Given the description of an element on the screen output the (x, y) to click on. 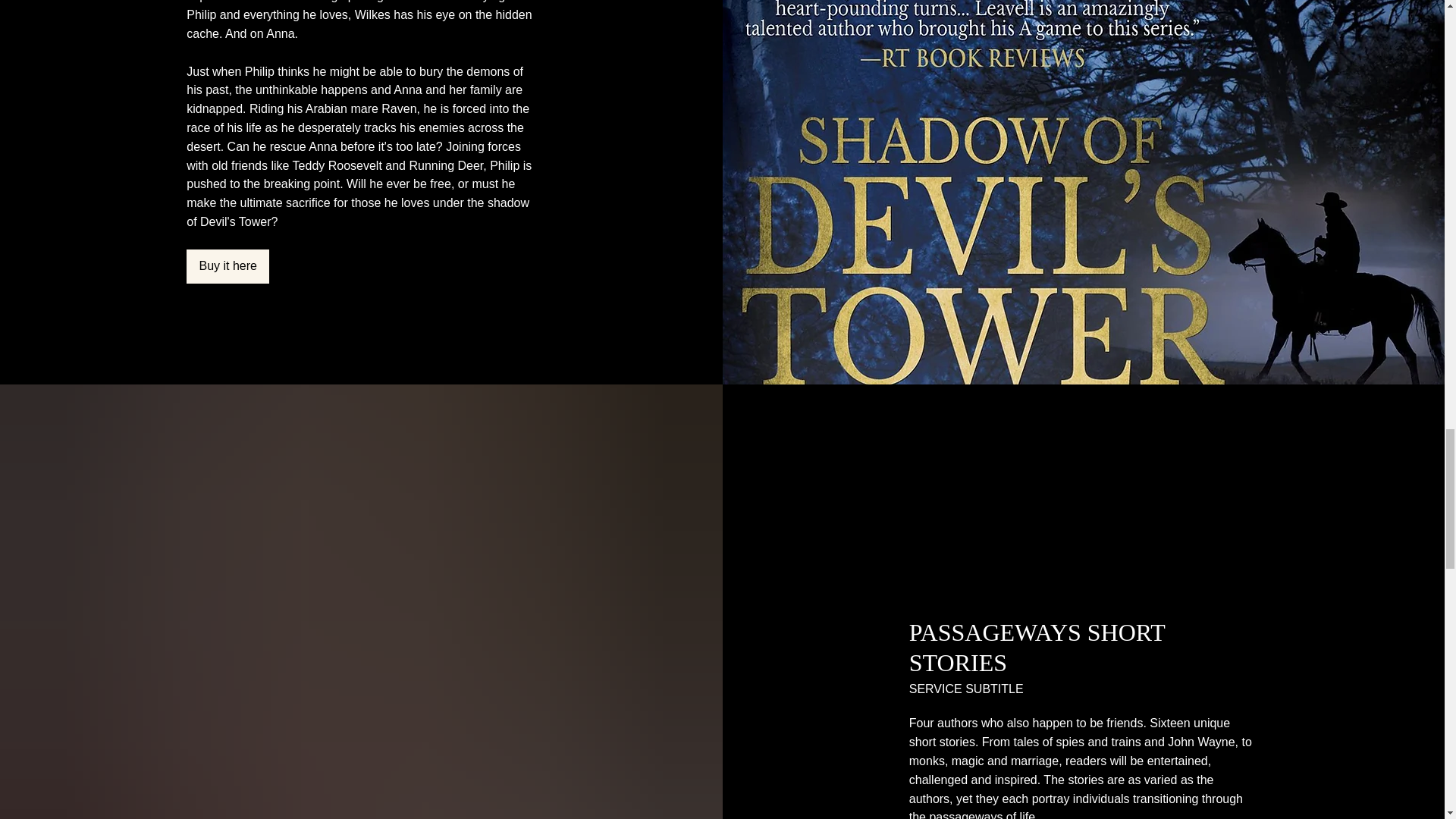
Buy it here (227, 266)
